Given the description of an element on the screen output the (x, y) to click on. 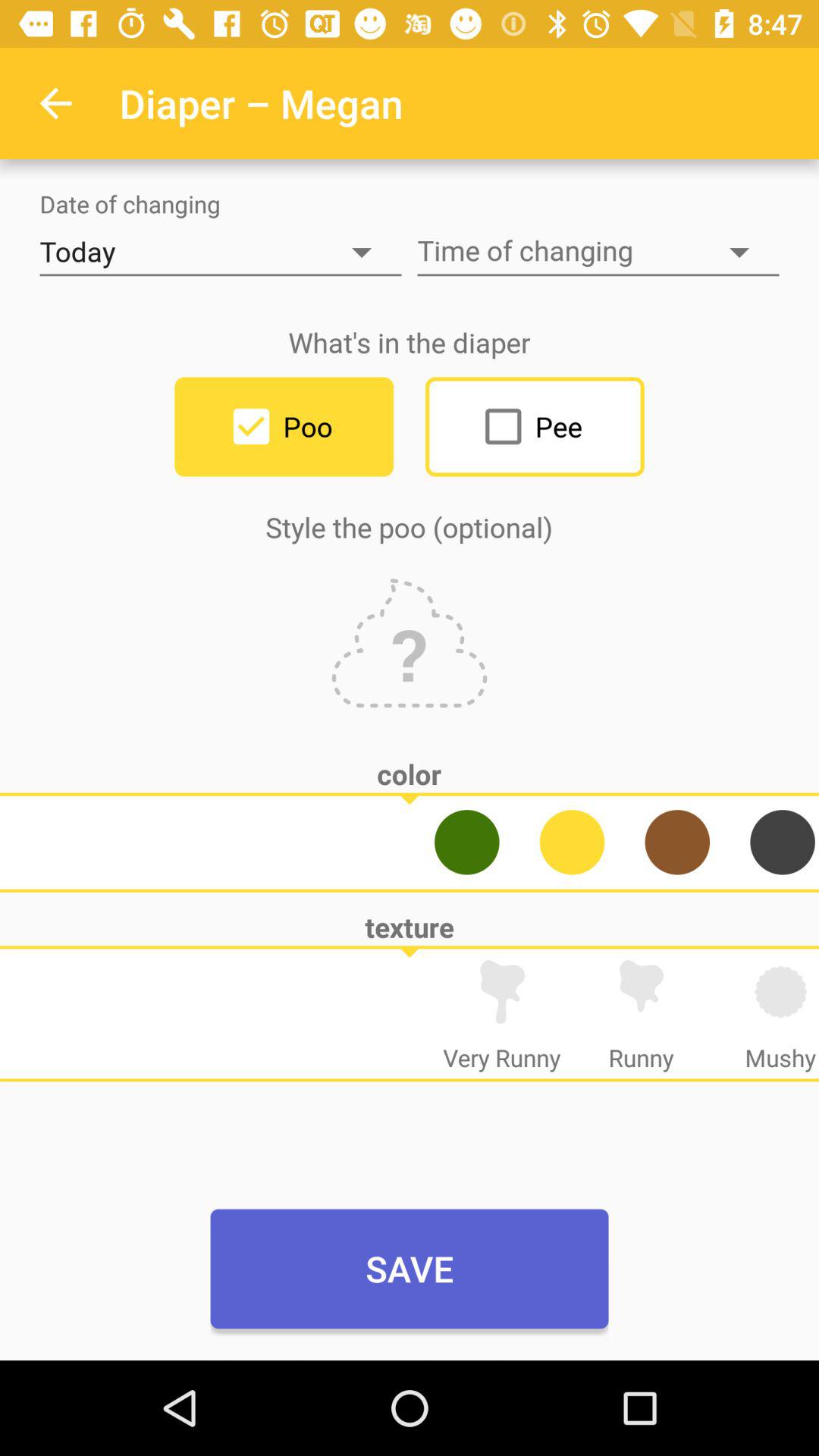
select green color (466, 842)
